Given the description of an element on the screen output the (x, y) to click on. 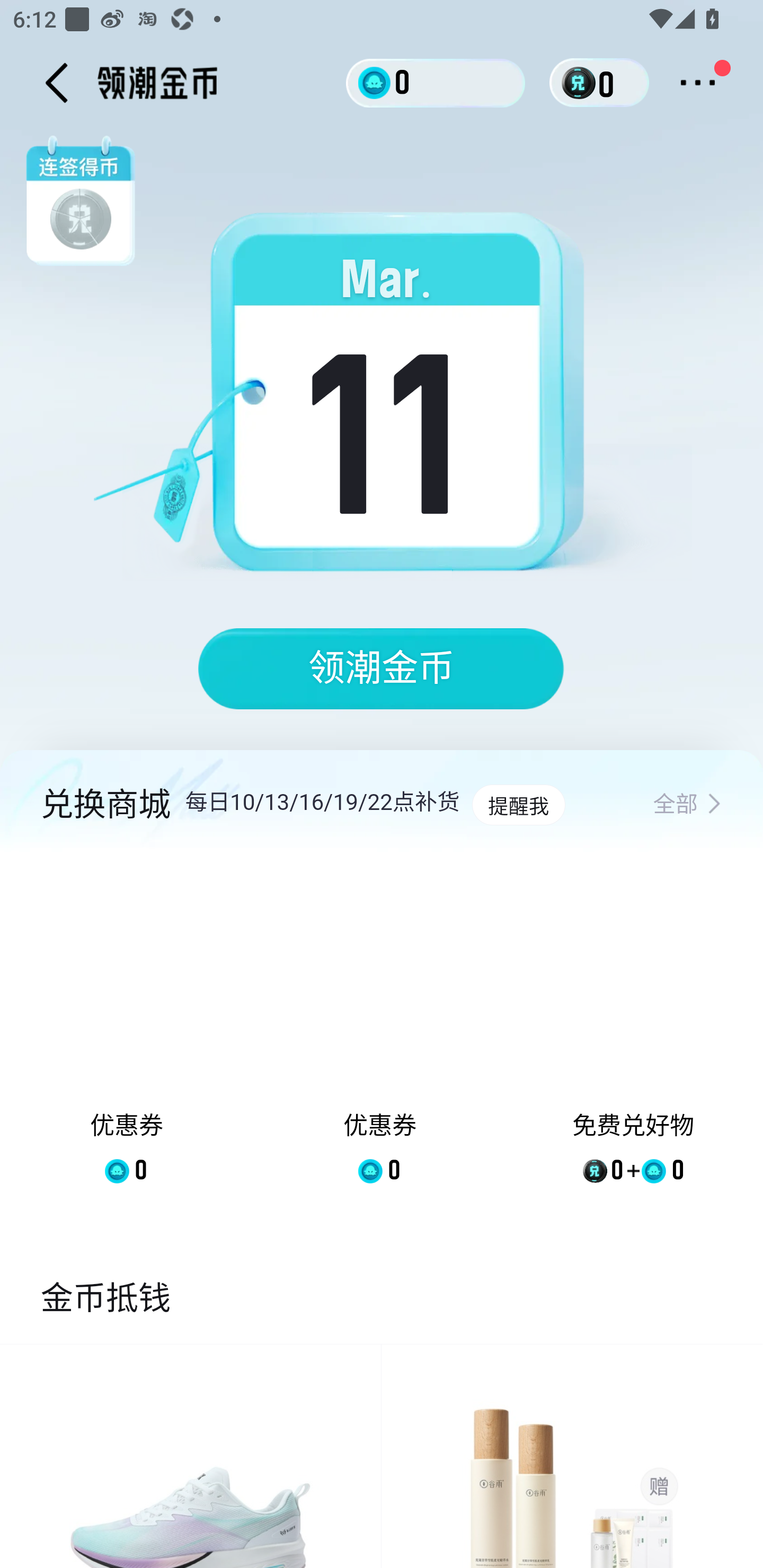
0 (435, 82)
format,webp 0 (581, 83)
已连续签到0天 (387, 403)
领潮金币 (381, 668)
提醒我 (518, 805)
全部 (687, 804)
优惠券 0 (127, 1031)
优惠券 0 (379, 1031)
免费兑好物 0 0 (633, 1031)
